Given the description of an element on the screen output the (x, y) to click on. 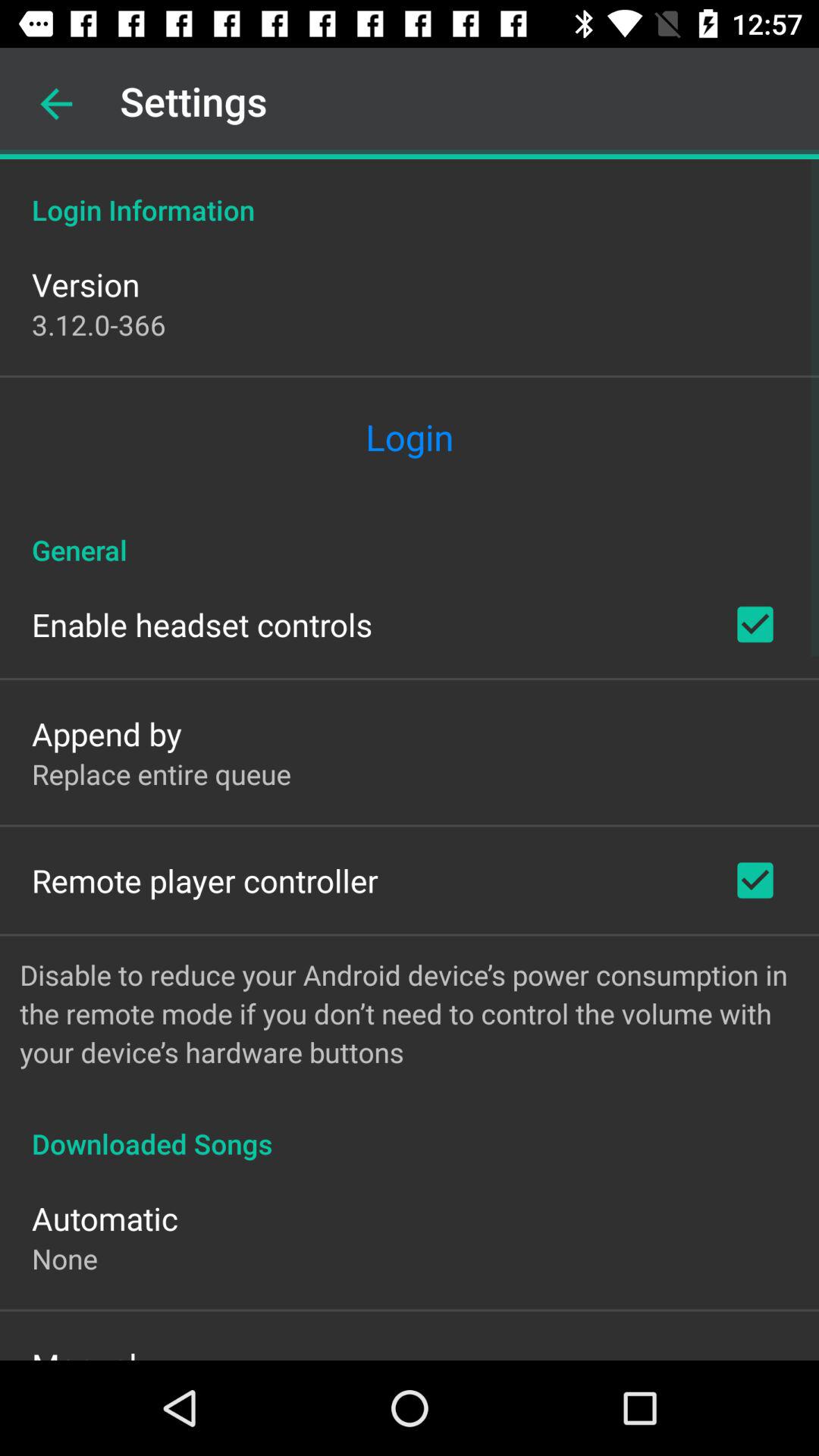
turn off the icon to the left of settings (56, 103)
